Given the description of an element on the screen output the (x, y) to click on. 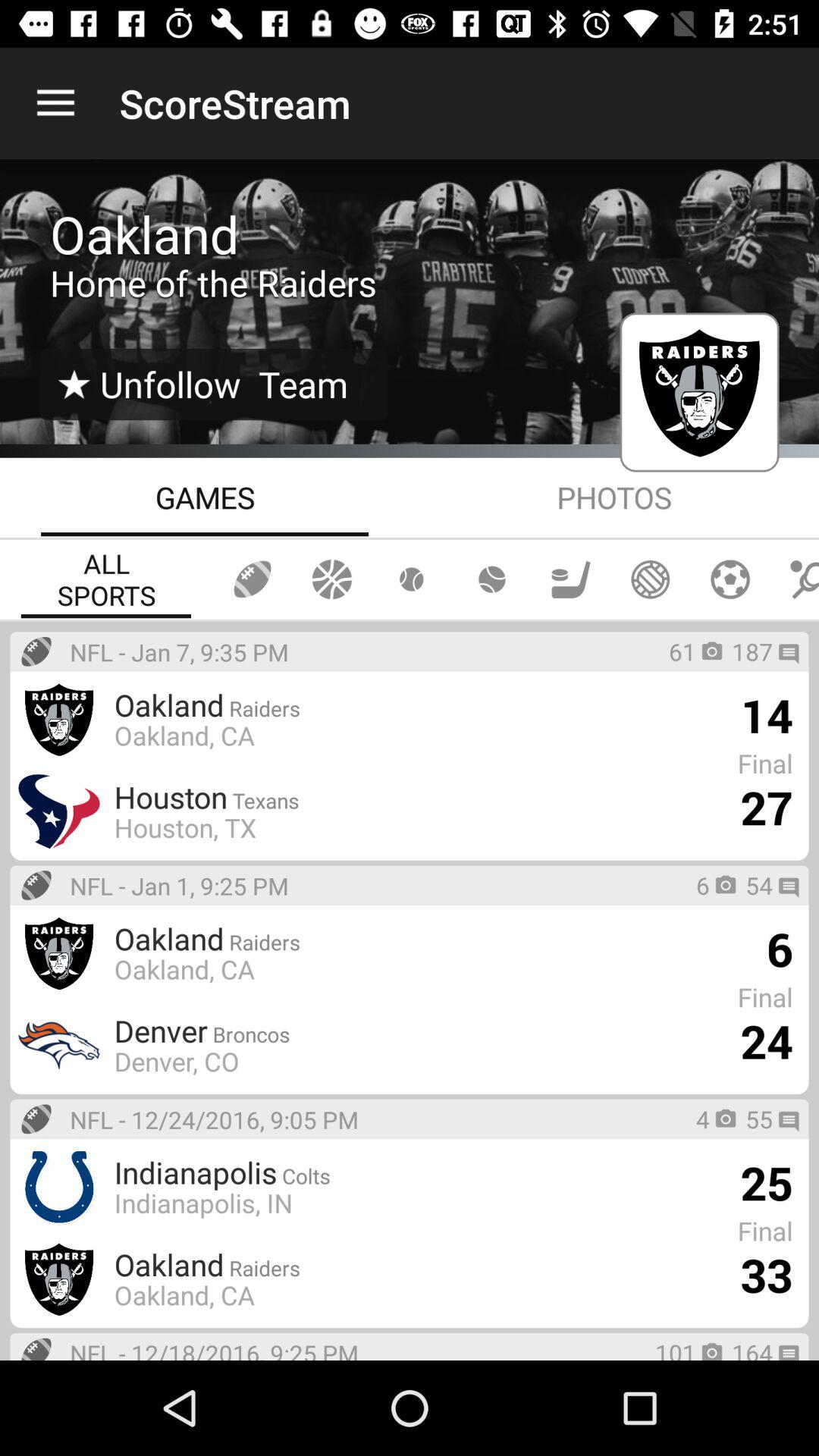
flip until the 101 (675, 1348)
